Given the description of an element on the screen output the (x, y) to click on. 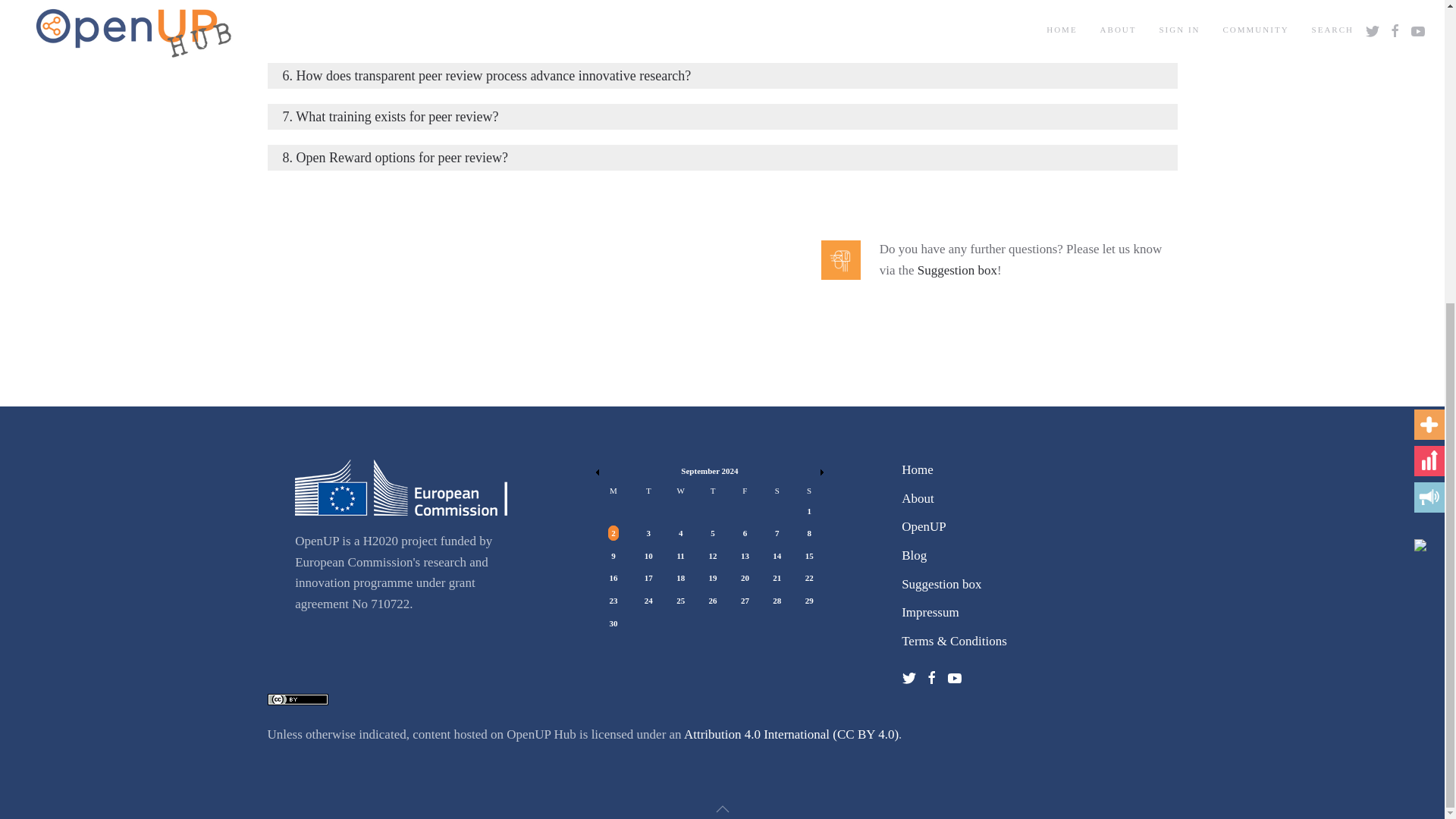
Go to calendar - current day (648, 555)
Go to calendar - current day (713, 555)
Go to calendar - current day (776, 555)
Go to calendar - current day (745, 555)
